Given the description of an element on the screen output the (x, y) to click on. 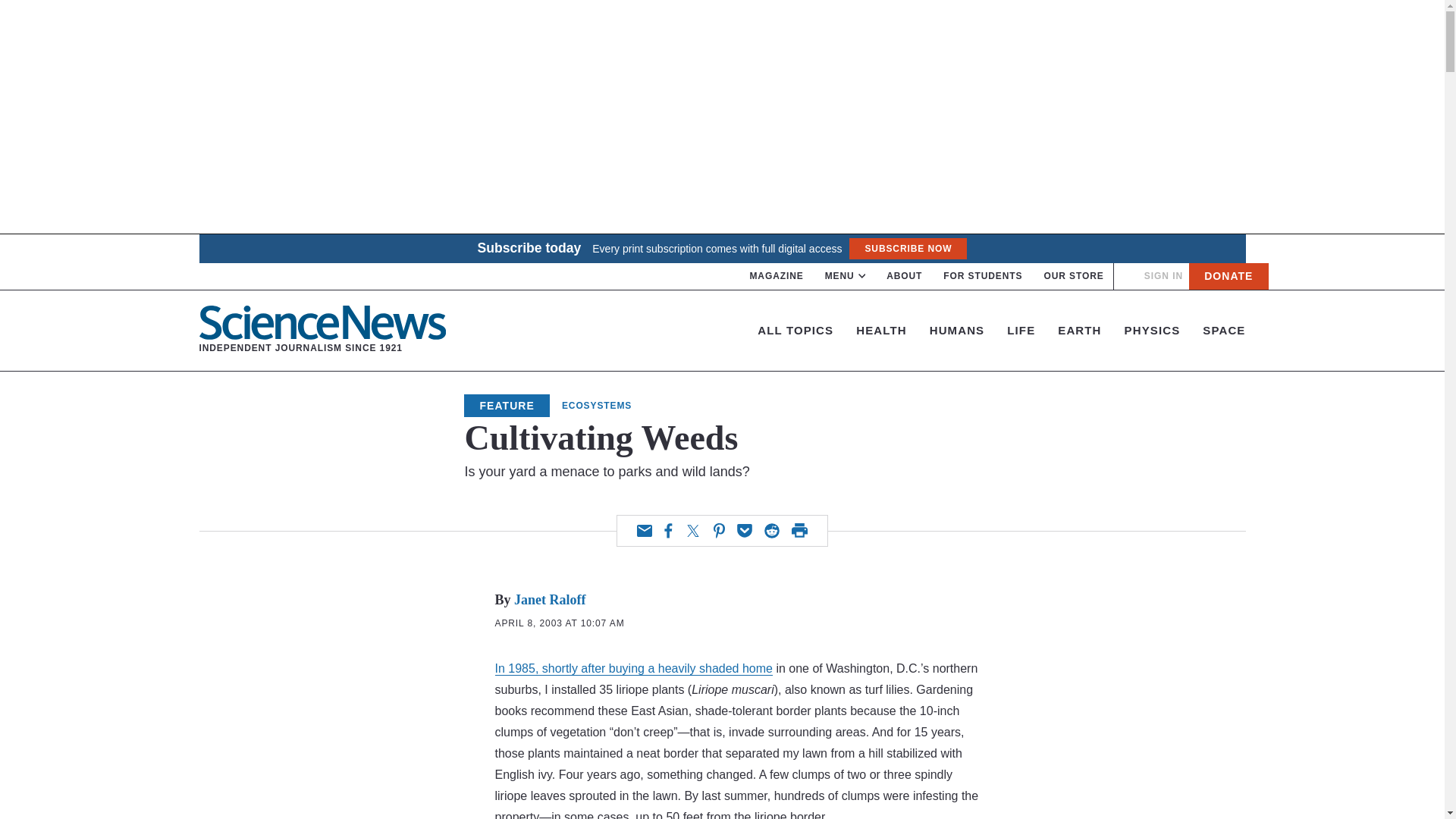
SIGN IN (1163, 275)
ALL TOPICS (794, 329)
FOR STUDENTS (982, 275)
Share via email (644, 530)
MAGAZINE (776, 275)
DONATE (1228, 275)
MENU (845, 275)
ABOUT (903, 275)
SUBSCRIBE NOW (907, 248)
Open search (1128, 275)
